Given the description of an element on the screen output the (x, y) to click on. 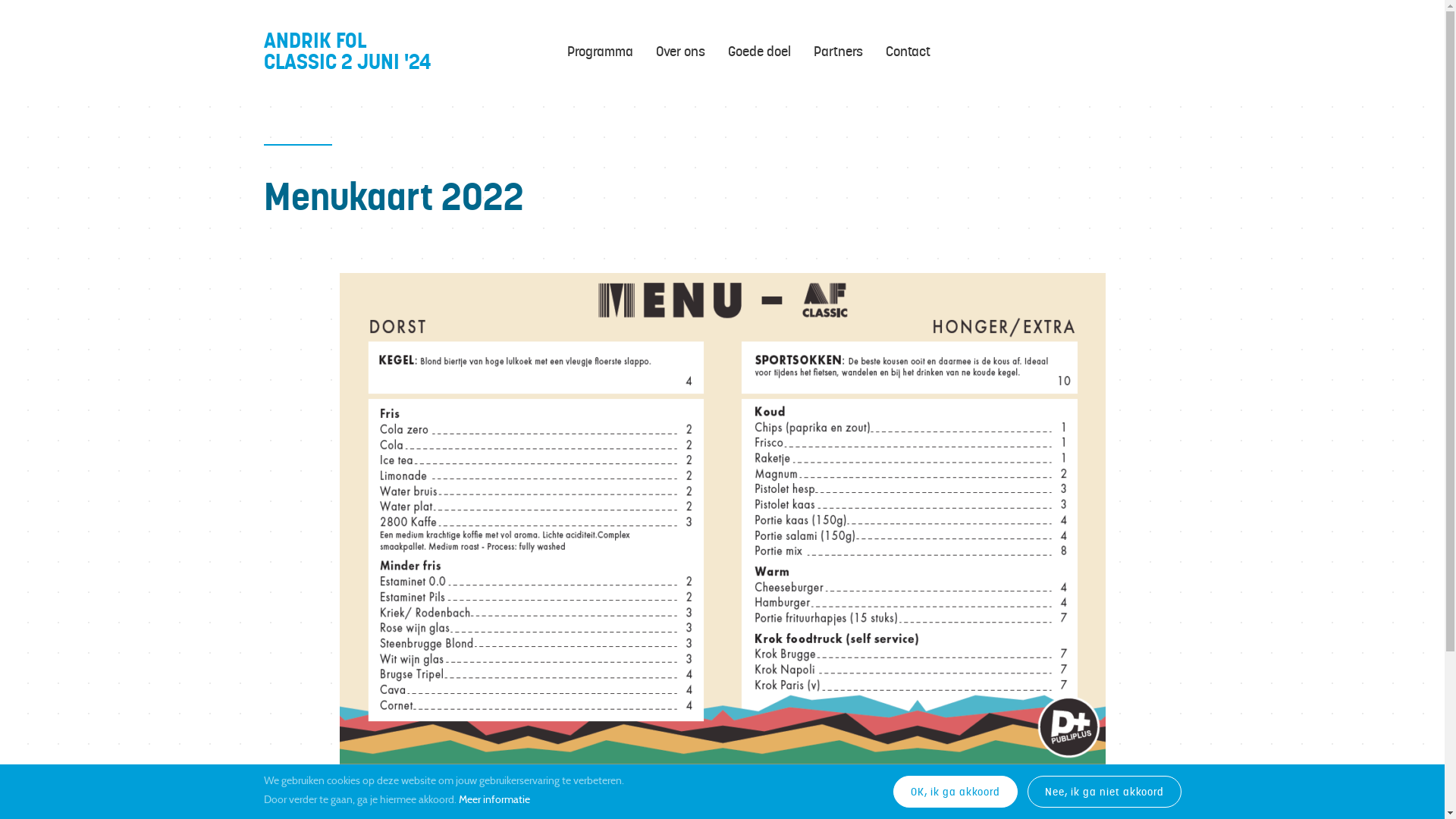
Over ons Element type: text (679, 51)
OK, ik ga akkoord Element type: text (955, 791)
Partners Element type: text (837, 51)
Programma Element type: text (600, 51)
ANDRIK FOL
CLASSIC 2 JUNI '24 Element type: text (415, 51)
Nee, ik ga niet akkoord Element type: text (1103, 791)
Meer informatie Element type: text (493, 800)
Goede doel Element type: text (759, 51)
Contact Element type: text (907, 51)
